Given the description of an element on the screen output the (x, y) to click on. 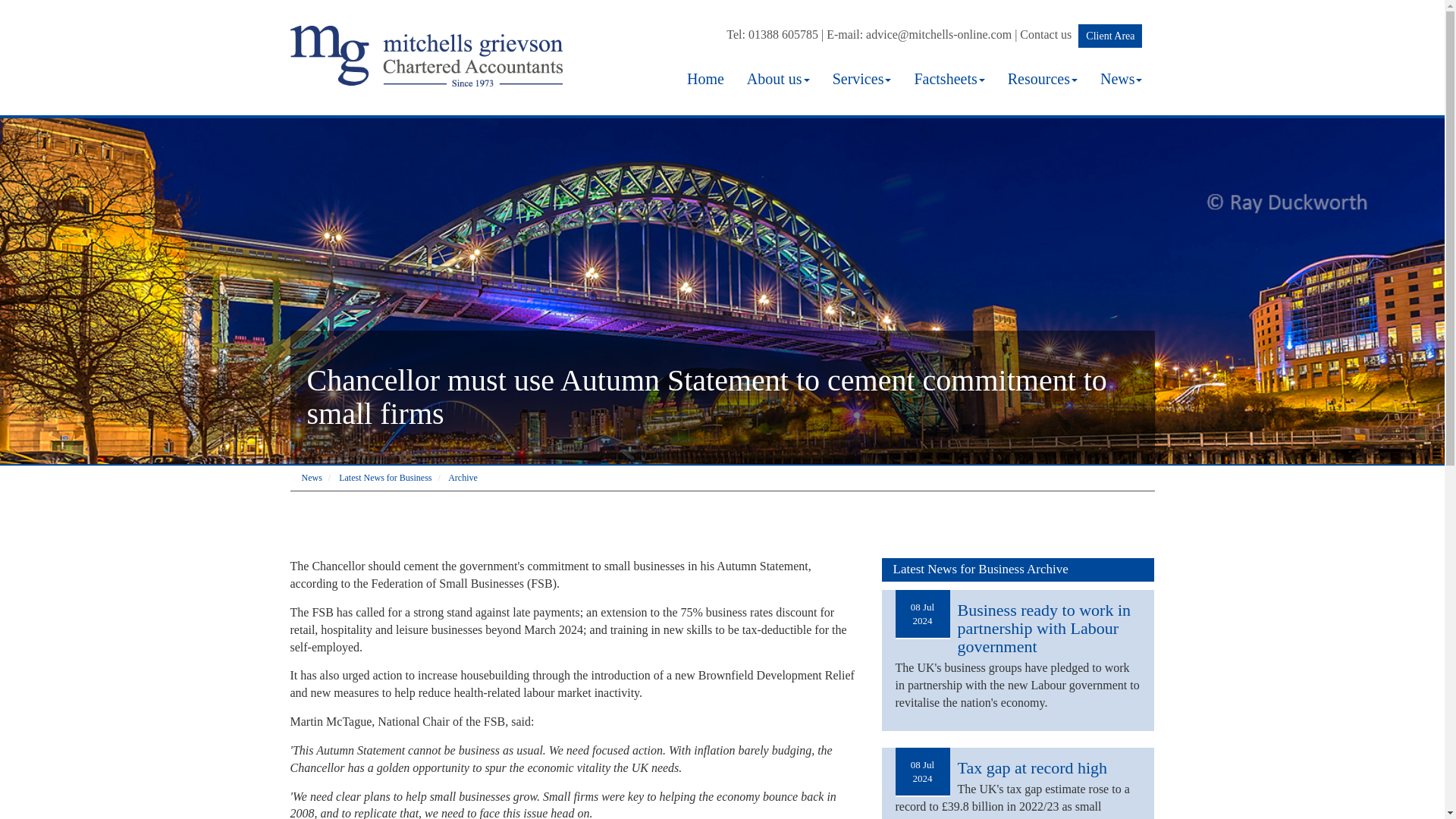
About us (778, 78)
Home (705, 78)
Services (861, 78)
Contact us (1045, 33)
About us (778, 78)
Home (705, 78)
Factsheets (948, 78)
Client Area (1109, 35)
Clientarea (1109, 35)
Mitchells Grievson Chartered Accountants in Bishop Auckland (429, 33)
Services (861, 78)
